Given the description of an element on the screen output the (x, y) to click on. 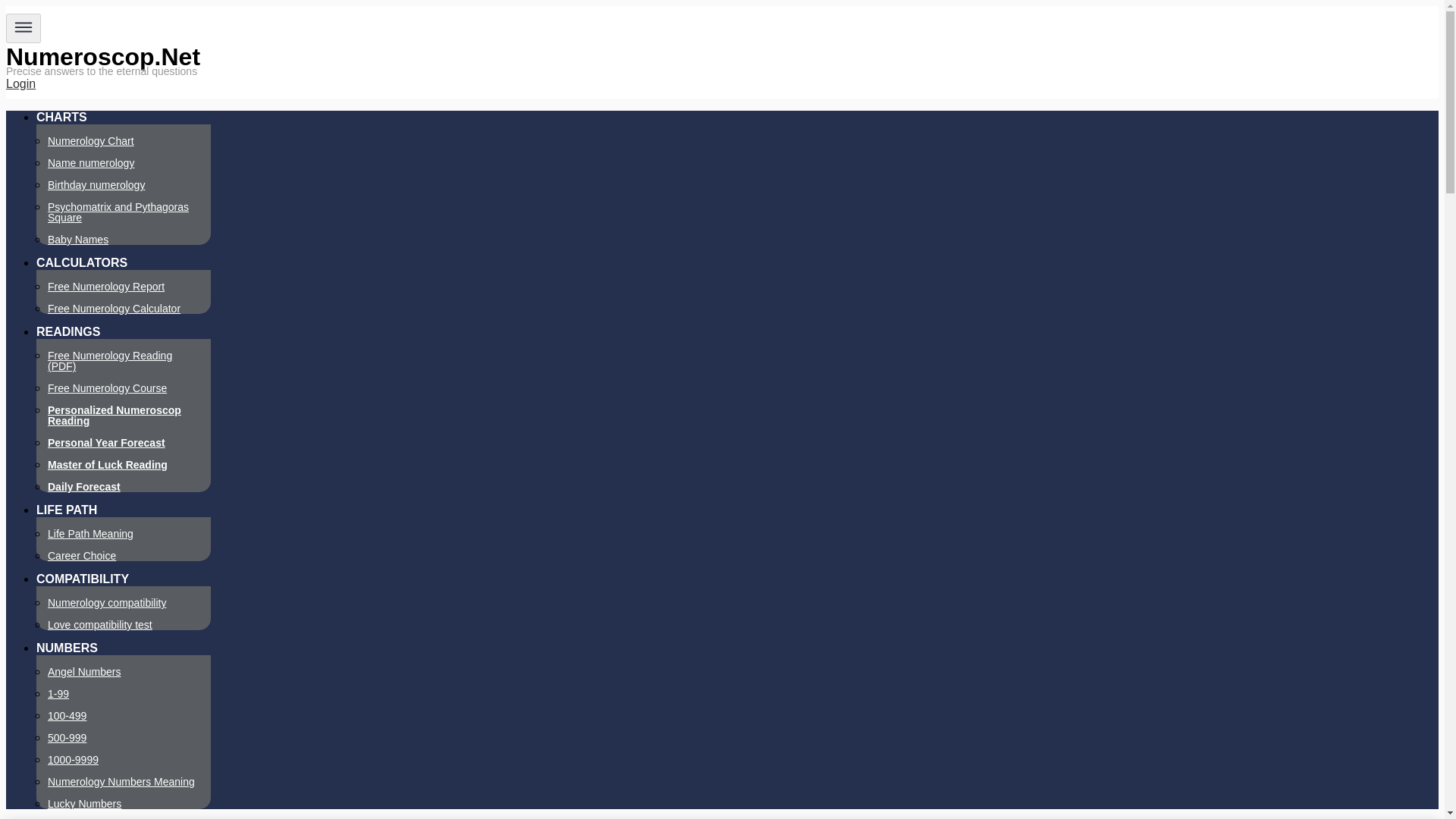
Numerology Numbers Meaning (121, 781)
Free Numerology Report (106, 286)
Personalized Numeroscop Reading (114, 415)
Lucky Numbers (84, 803)
CALCULATORS (82, 262)
Numerology compatibility (106, 603)
Birthday numerology (96, 184)
Daily Forecast (84, 486)
Master of Luck Reading (107, 464)
500-999 (66, 737)
100-499 (66, 715)
Free Numerology Calculator (114, 308)
Psychomatrix and Pythagoras Square (118, 211)
COMPATIBILITY (82, 578)
Free Numerology Course (107, 387)
